Given the description of an element on the screen output the (x, y) to click on. 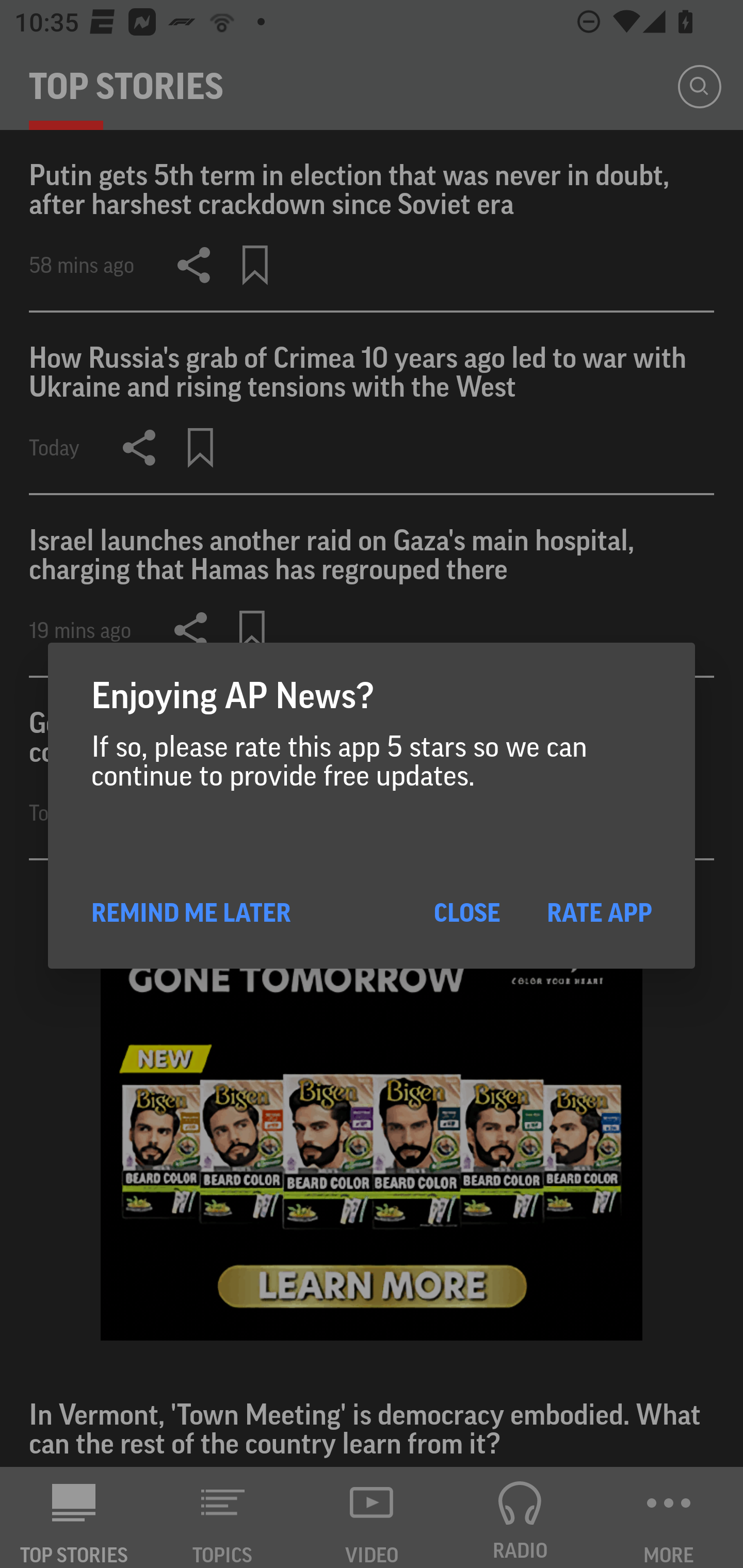
REMIND ME LATER (190, 912)
CLOSE (466, 912)
RATE APP (598, 912)
